Given the description of an element on the screen output the (x, y) to click on. 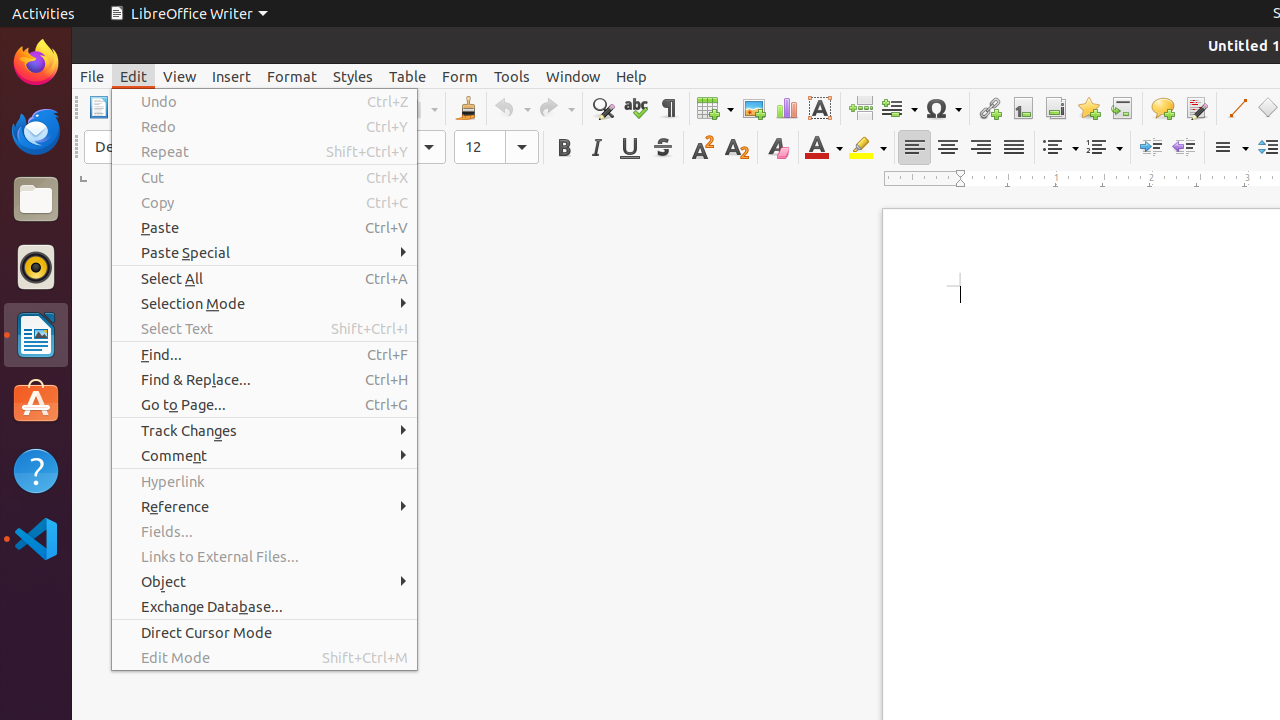
Right Element type: toggle-button (980, 147)
Spelling Element type: push-button (635, 108)
Numbering Element type: push-button (1104, 147)
Line Spacing Element type: push-button (1230, 147)
Superscript Element type: toggle-button (703, 147)
